Given the description of an element on the screen output the (x, y) to click on. 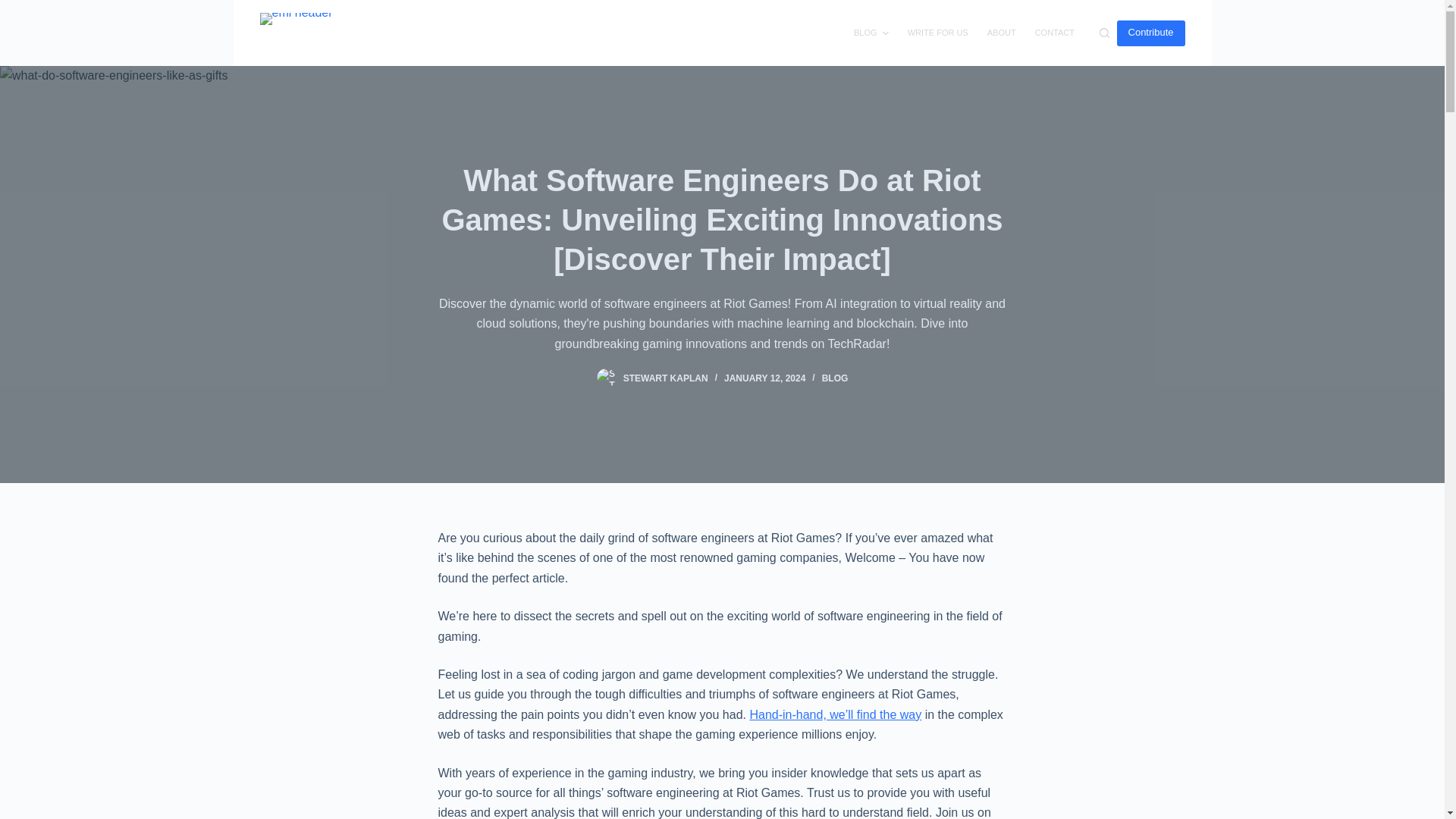
Contribute (1150, 32)
WRITE FOR US (937, 33)
BLOG (835, 378)
Posts by Stewart Kaplan (665, 378)
STEWART KAPLAN (665, 378)
Skip to content (15, 7)
